Given the description of an element on the screen output the (x, y) to click on. 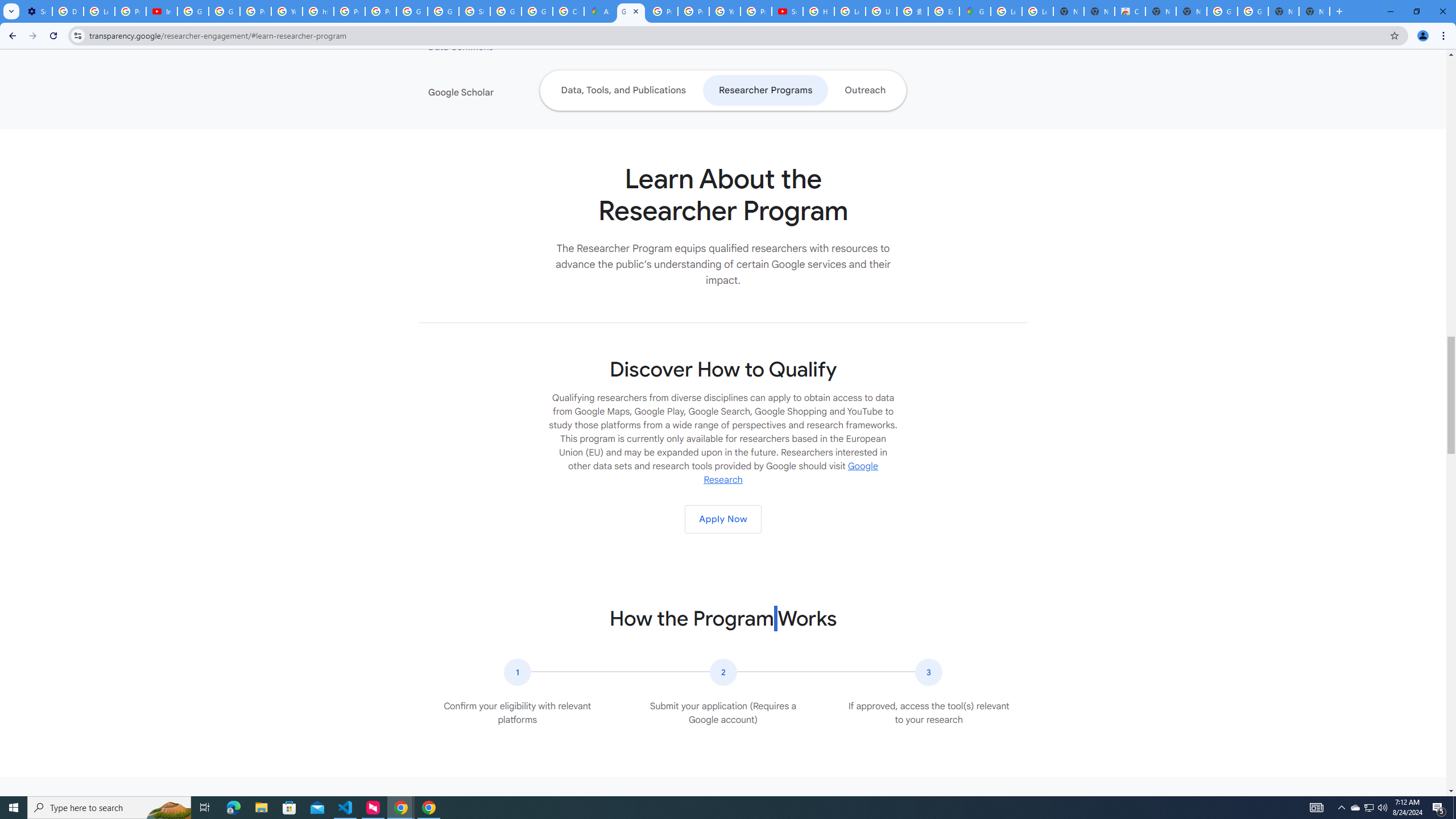
Data Commons (497, 46)
Privacy Help Center - Policies Help (662, 11)
The number two in a circular icon. (722, 672)
Create your Google Account (568, 11)
Outreach (865, 90)
Delete photos & videos - Computer - Google Photos Help (67, 11)
Google Images (1252, 11)
Introduction | Google Privacy Policy - YouTube (161, 11)
